Given the description of an element on the screen output the (x, y) to click on. 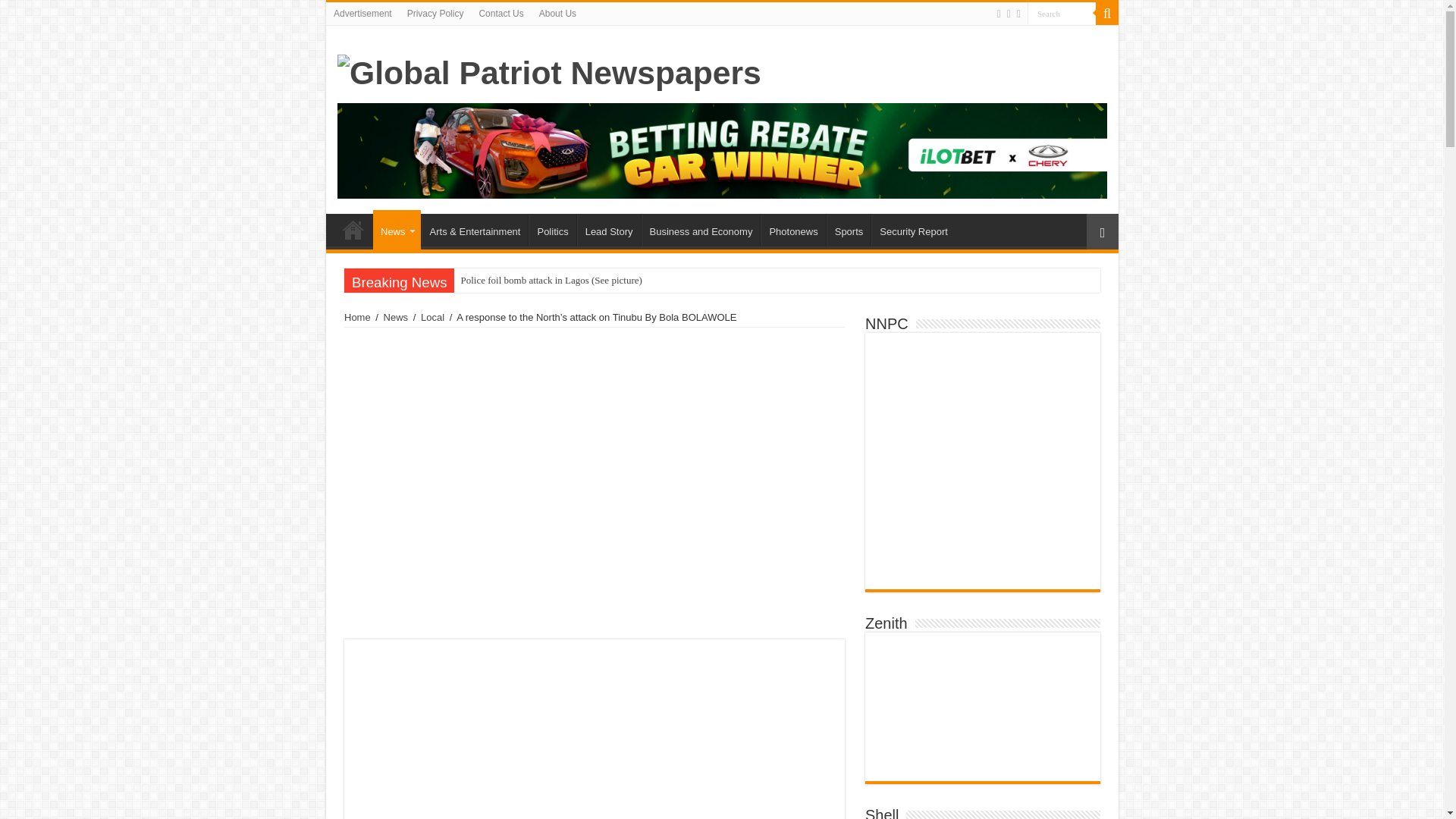
Random Article (1102, 231)
Search (1107, 13)
Search (1061, 13)
Search (1061, 13)
Search (1061, 13)
Home (357, 317)
Advertisement (362, 13)
GPNEWS (352, 229)
Privacy Policy (434, 13)
Photonews (792, 229)
News (396, 229)
Contact Us (500, 13)
Politics (551, 229)
About Us (557, 13)
News (396, 317)
